Given the description of an element on the screen output the (x, y) to click on. 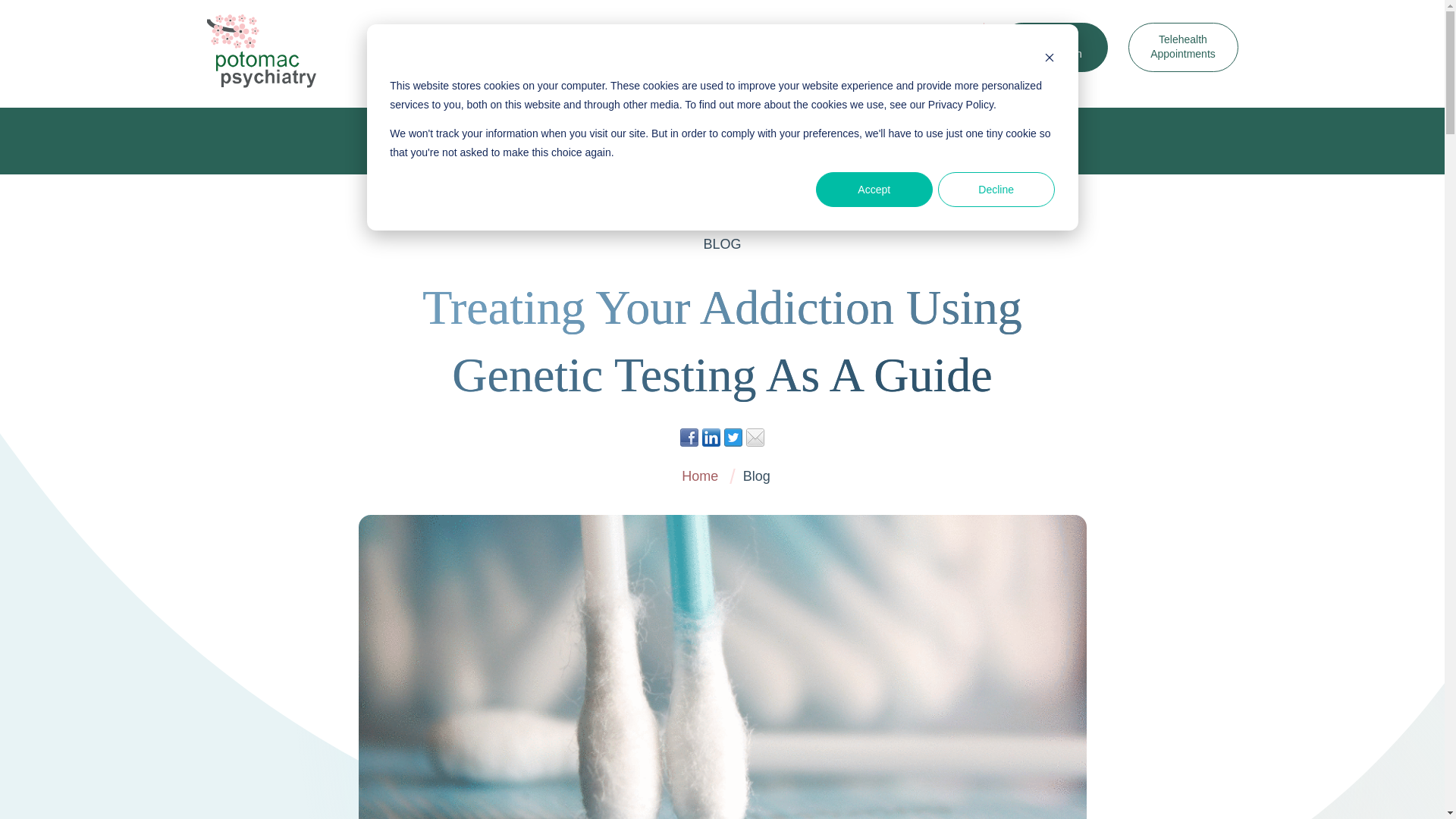
Genetic Testing (508, 46)
Potomac Psychiatry (260, 50)
